Given the description of an element on the screen output the (x, y) to click on. 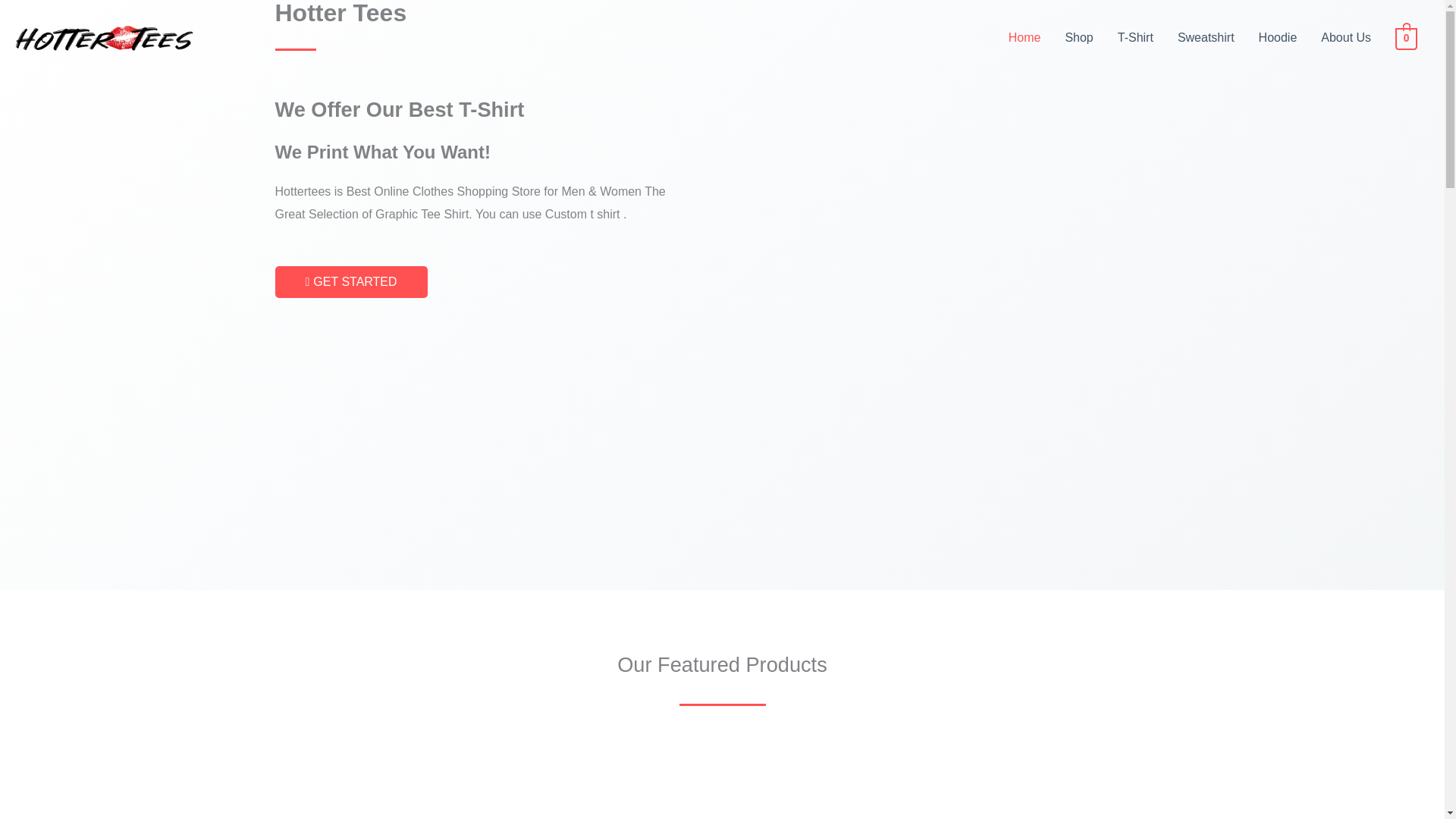
GET STARTED (350, 282)
0 (1405, 37)
About Us (1345, 37)
Sweatshirt (1206, 37)
Hoodie (1277, 37)
T-Shirt (1135, 37)
Home (1023, 37)
View your shopping cart (1405, 37)
Shop (1078, 37)
